Given the description of an element on the screen output the (x, y) to click on. 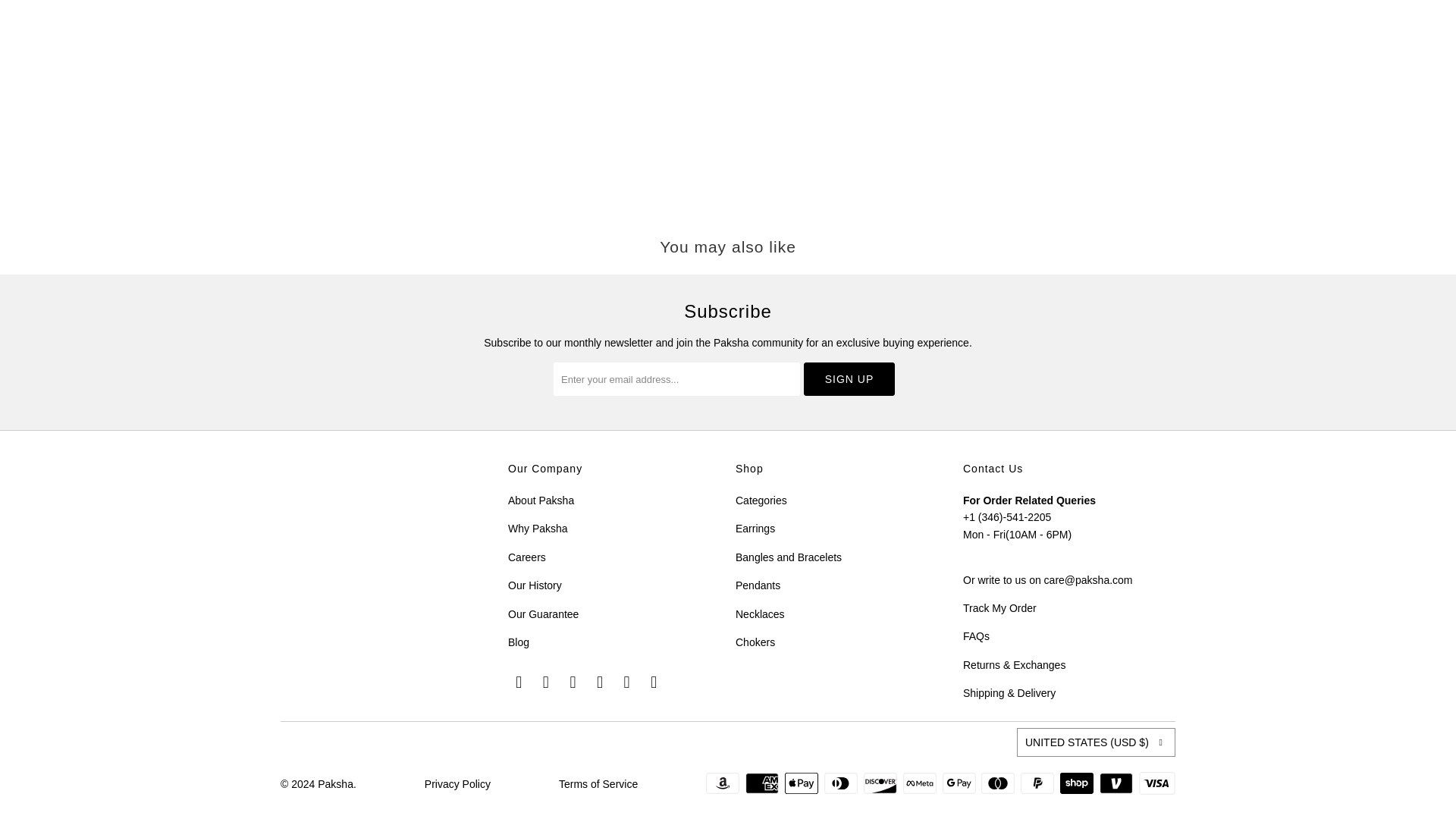
Discover (881, 783)
Shop Pay (1077, 783)
Amazon (724, 783)
Google Pay (960, 783)
Paksha on Tiktok (654, 682)
PayPal (1038, 783)
Paksha on Instagram (600, 682)
Paksha on Facebook (519, 682)
Email Paksha (627, 682)
American Express (763, 783)
Sign Up (849, 378)
Diners Club (842, 783)
Meta Pay (920, 783)
Paksha on Pinterest (573, 682)
Venmo (1117, 783)
